Given the description of an element on the screen output the (x, y) to click on. 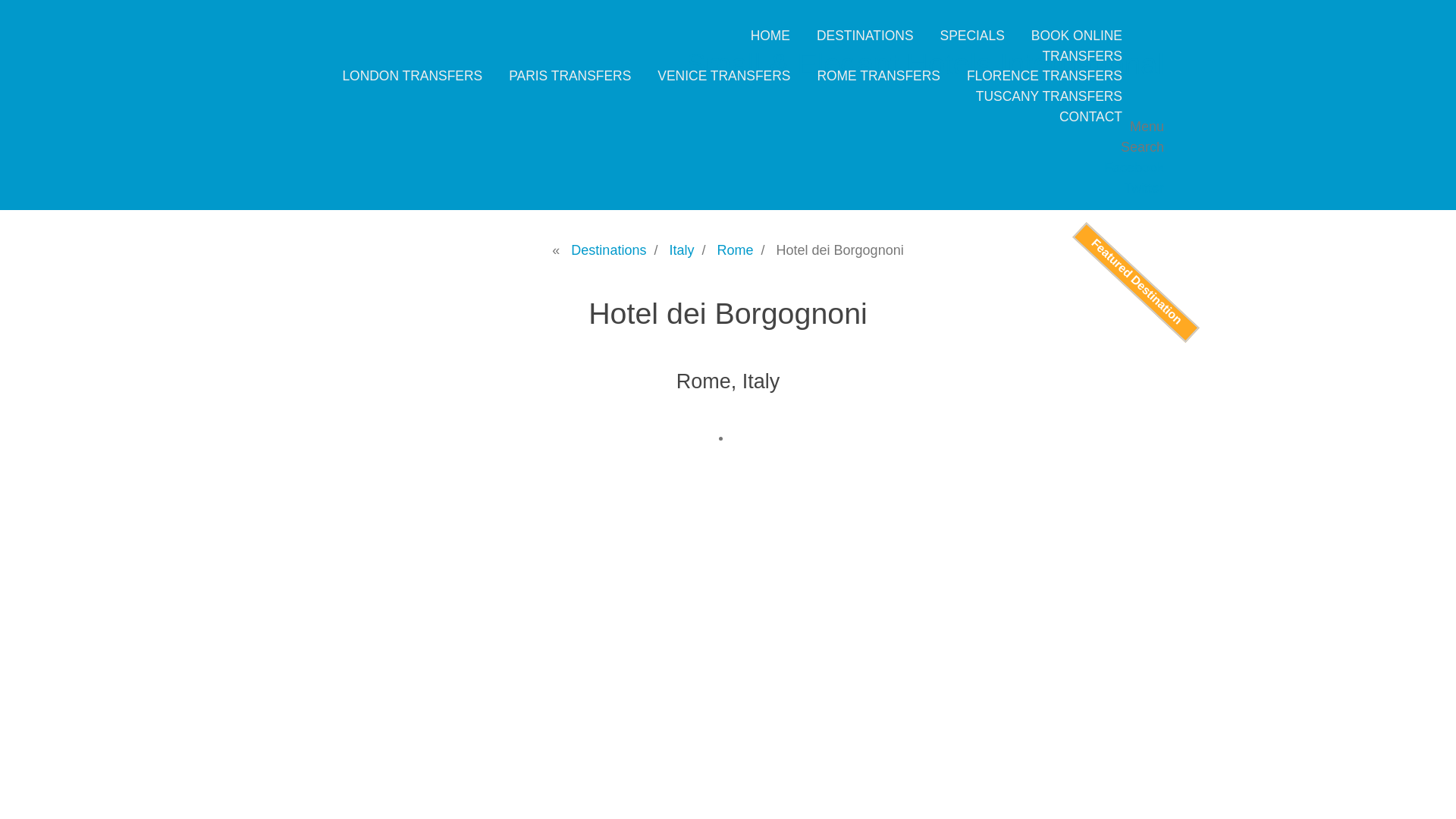
DESTINATIONS (865, 35)
Follow us on Twitter (1143, 187)
Destinations (608, 249)
VENICE TRANSFERS (724, 75)
Go back to Destinations (608, 249)
ROME TRANSFERS (877, 75)
TUSCANY TRANSFERS (1048, 96)
HOME (770, 35)
Rome (735, 249)
SPECIALS (972, 35)
LONDON TRANSFERS (411, 75)
Facebook (1133, 167)
CONTACT (1090, 116)
Join us on Facebook (1133, 167)
Return to Home Page (924, 63)
